Given the description of an element on the screen output the (x, y) to click on. 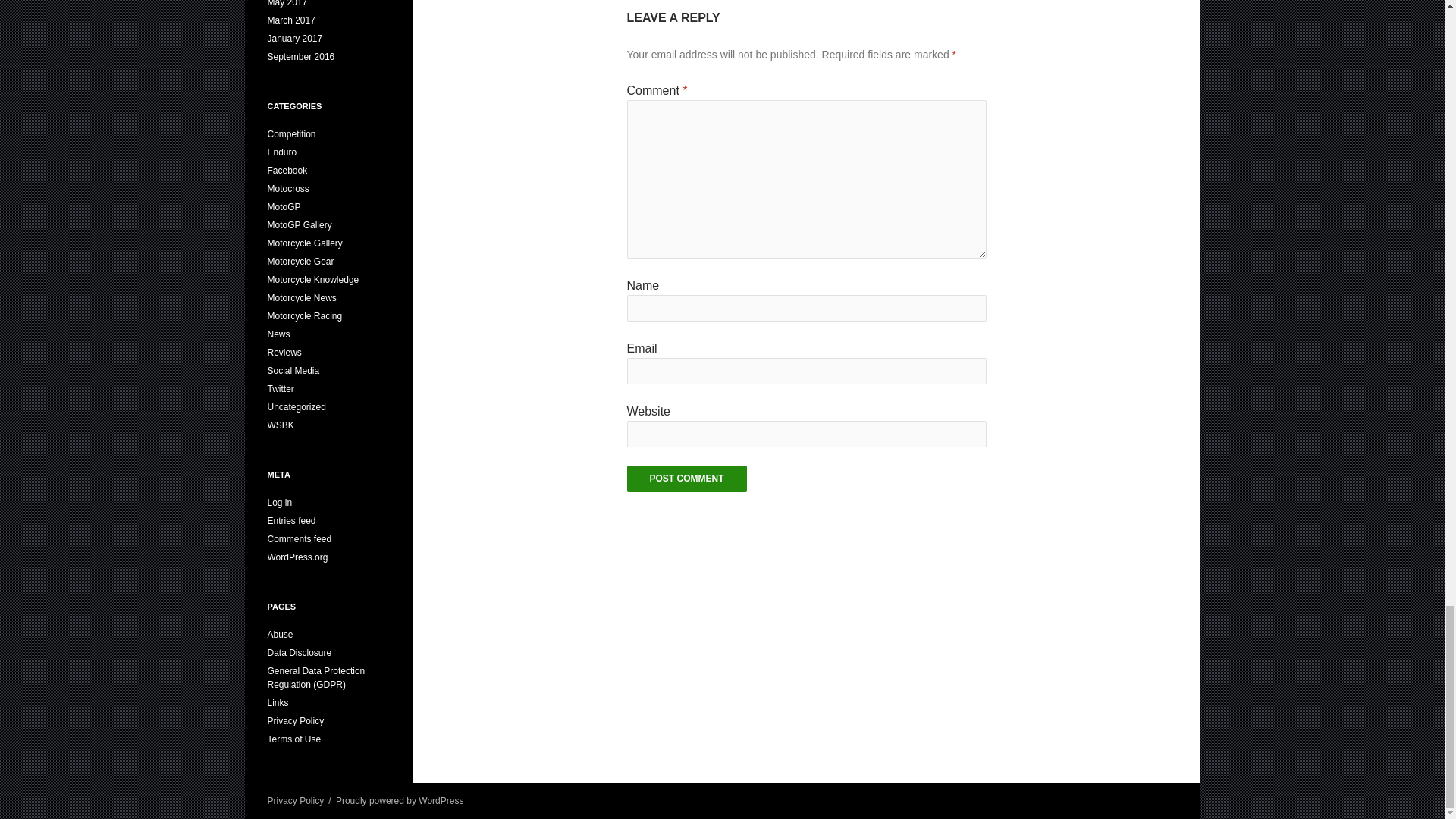
Post Comment (685, 479)
Post Comment (685, 479)
